Given the description of an element on the screen output the (x, y) to click on. 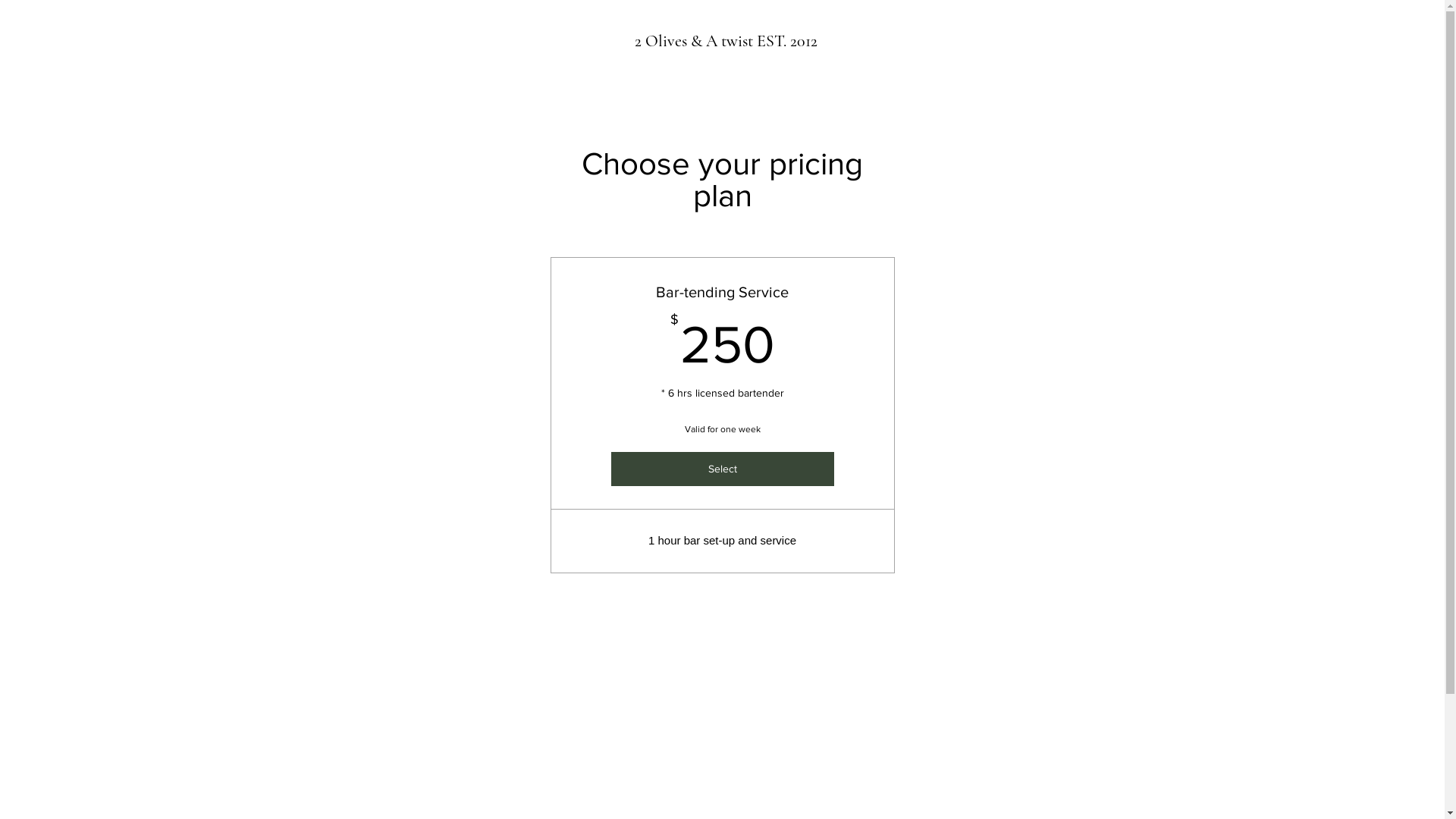
Select Element type: text (722, 468)
2 Olives & A twist EST. 2012 Element type: text (725, 40)
